Given the description of an element on the screen output the (x, y) to click on. 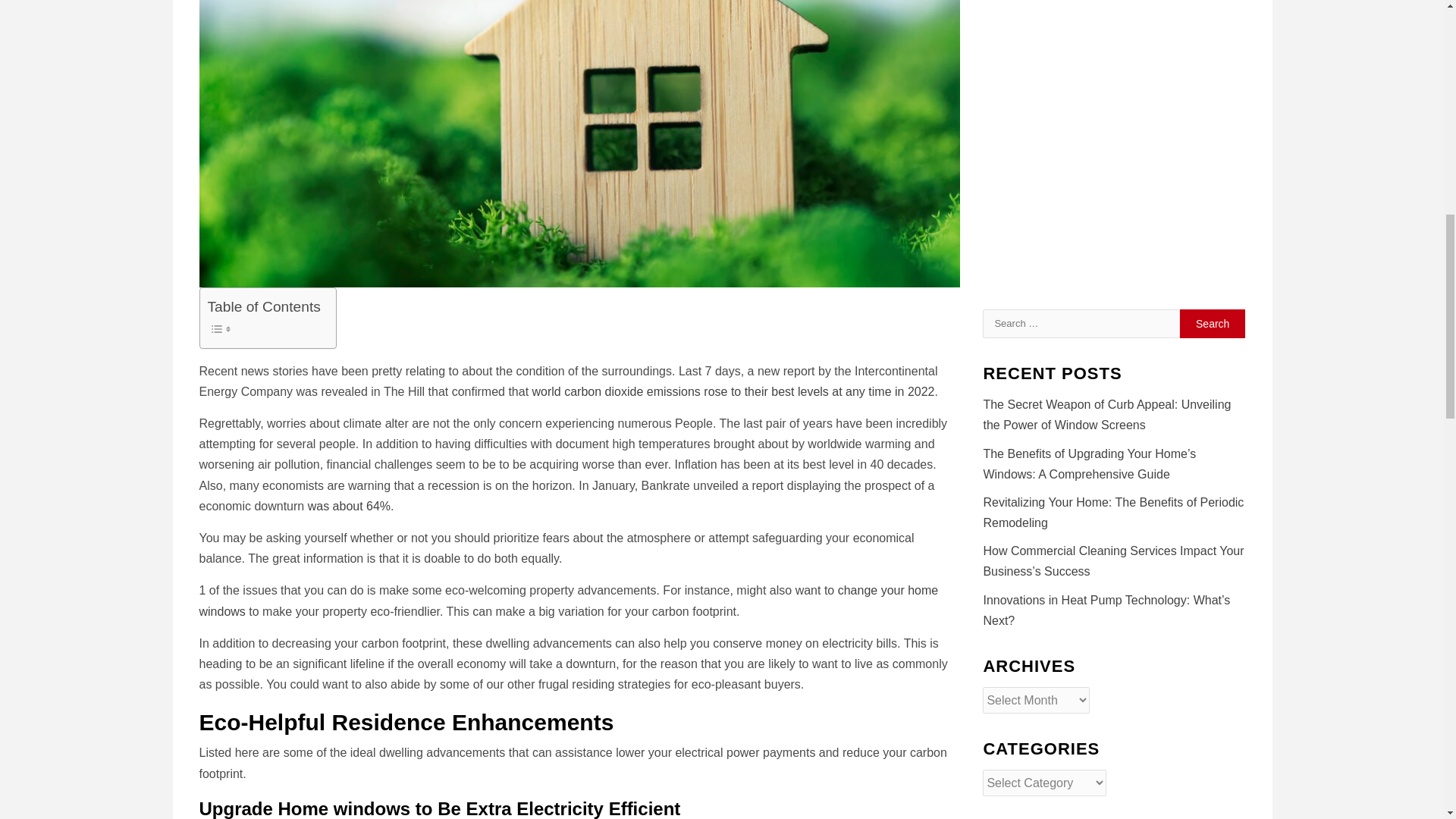
change your home windows (567, 600)
